Given the description of an element on the screen output the (x, y) to click on. 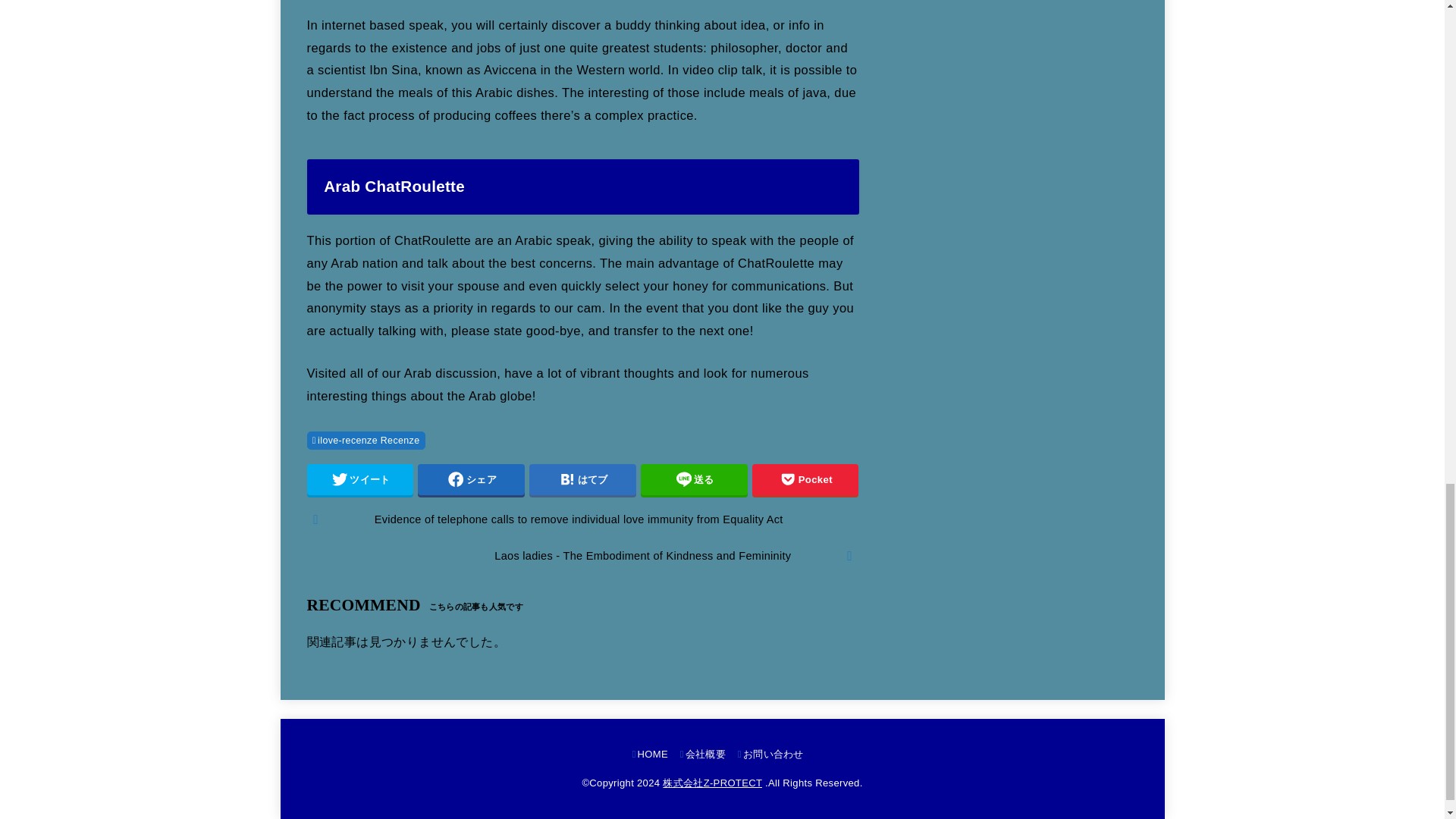
Laos ladies - The Embodiment of Kindness and Femininity (582, 555)
ilove-recenze Recenze (365, 440)
Pocket (805, 480)
HOME (649, 754)
